Given the description of an element on the screen output the (x, y) to click on. 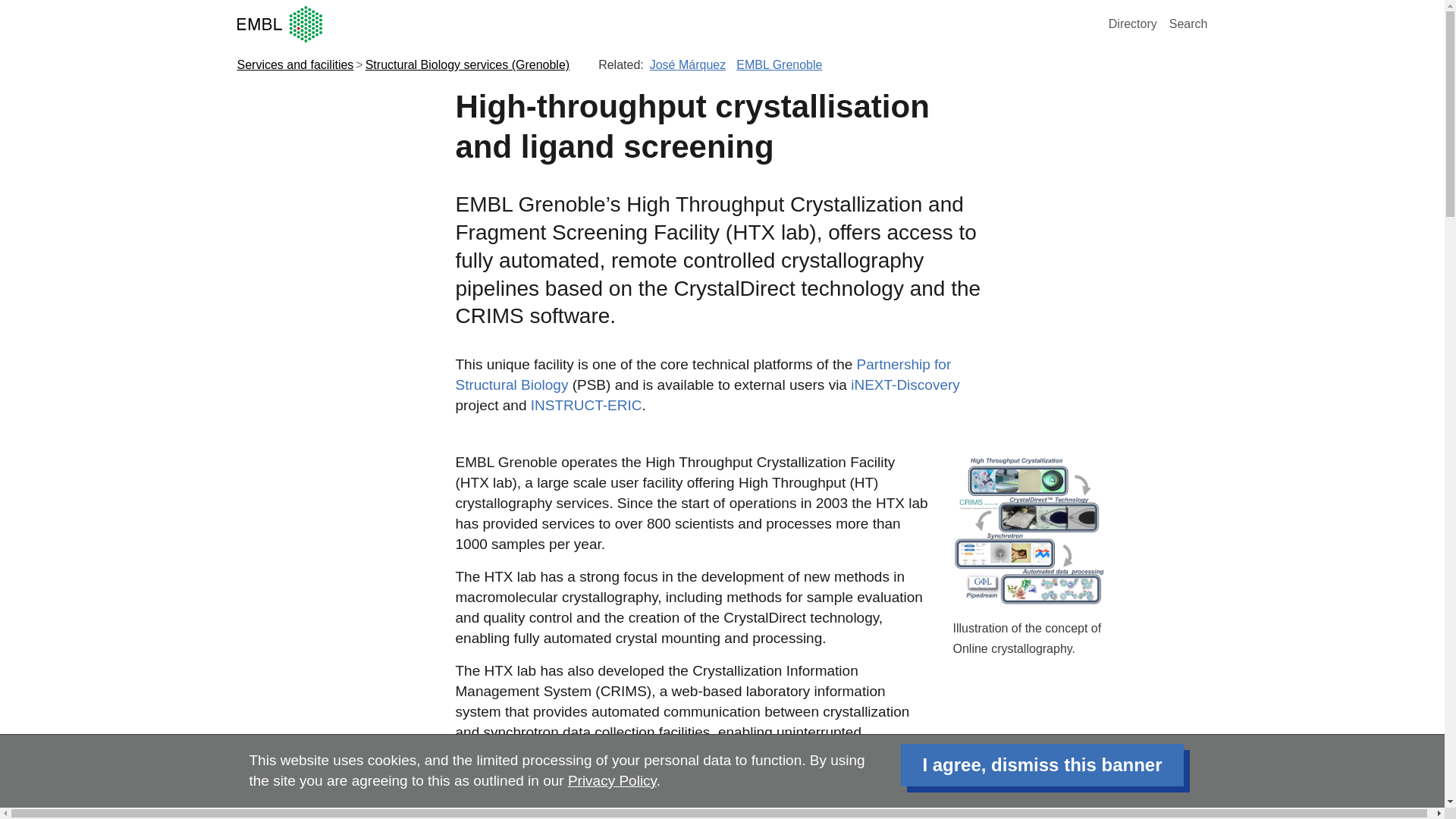
Privacy Policy (611, 780)
I agree, dismiss this banner (1041, 764)
European Molecular Biology Laboratory Home (668, 23)
Search (1188, 23)
iNEXT-Discovery (904, 384)
Services and facilities (294, 64)
Illustration of the concept of Online crystallography. (1079, 561)
EMBL Grenoble (779, 64)
INSTRUCT-ERIC (586, 405)
Partnership for Structural Biology (702, 374)
